Given the description of an element on the screen output the (x, y) to click on. 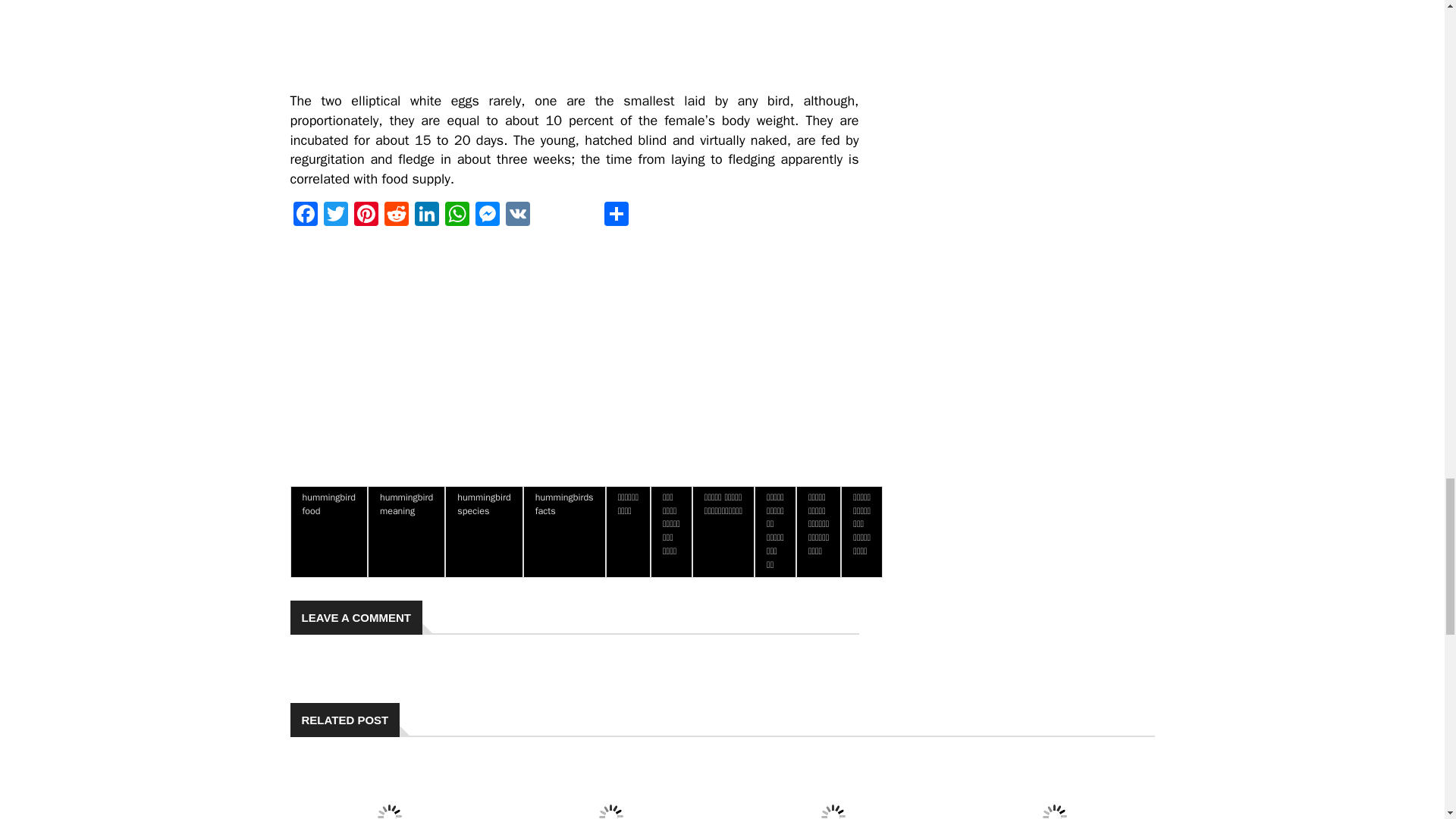
WhatsApp (456, 215)
Reddit (395, 215)
Twitter (335, 215)
Advertisement (402, 40)
LinkedIn (425, 215)
Facebook (304, 215)
Pinterest (365, 215)
